Given the description of an element on the screen output the (x, y) to click on. 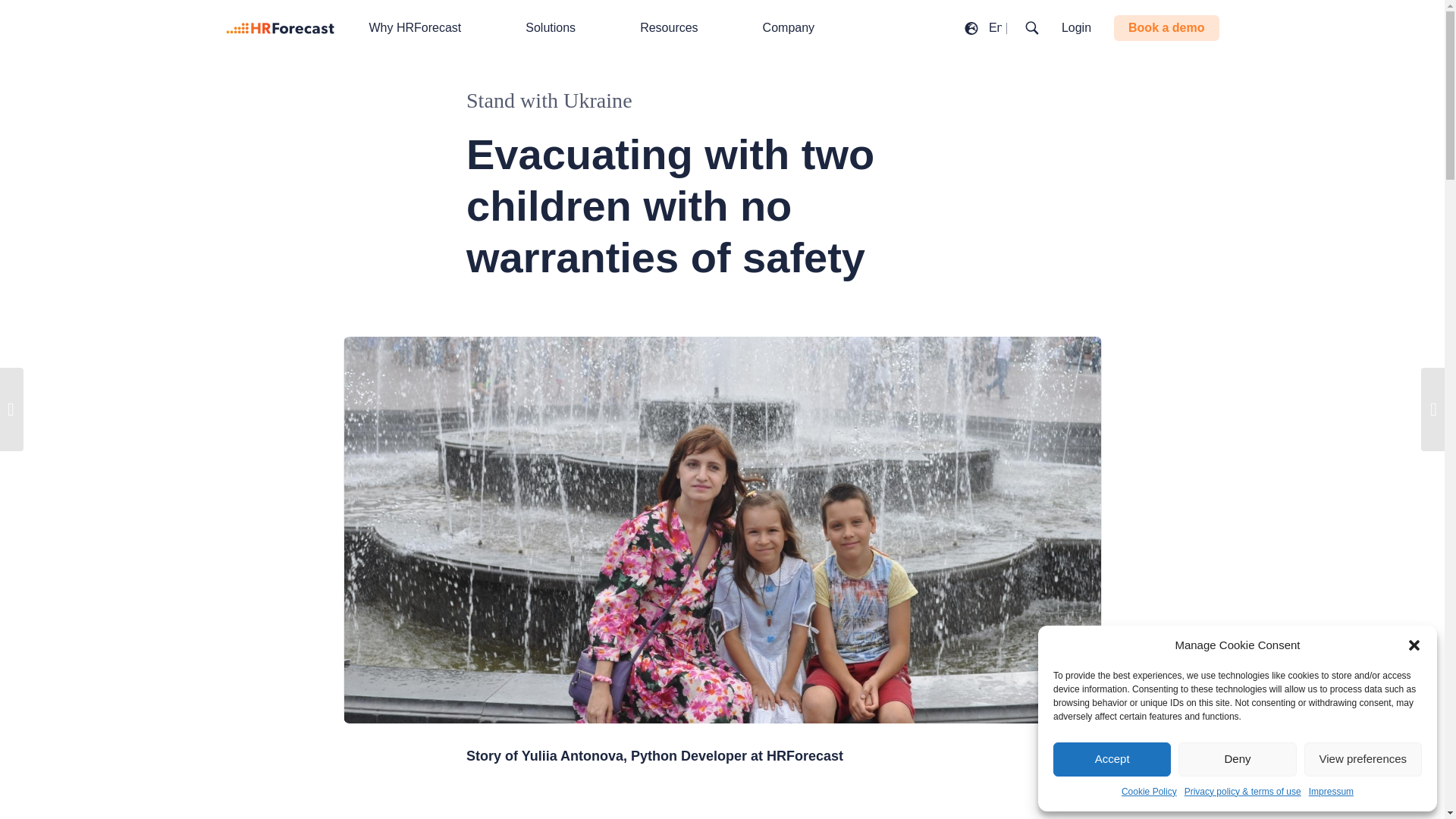
Cookie Policy (1148, 791)
Accept (1111, 759)
Why HRForecast (422, 27)
Resources (676, 27)
Impressum (1331, 791)
View preferences (1363, 759)
Solutions (557, 27)
Deny (1236, 759)
